Given the description of an element on the screen output the (x, y) to click on. 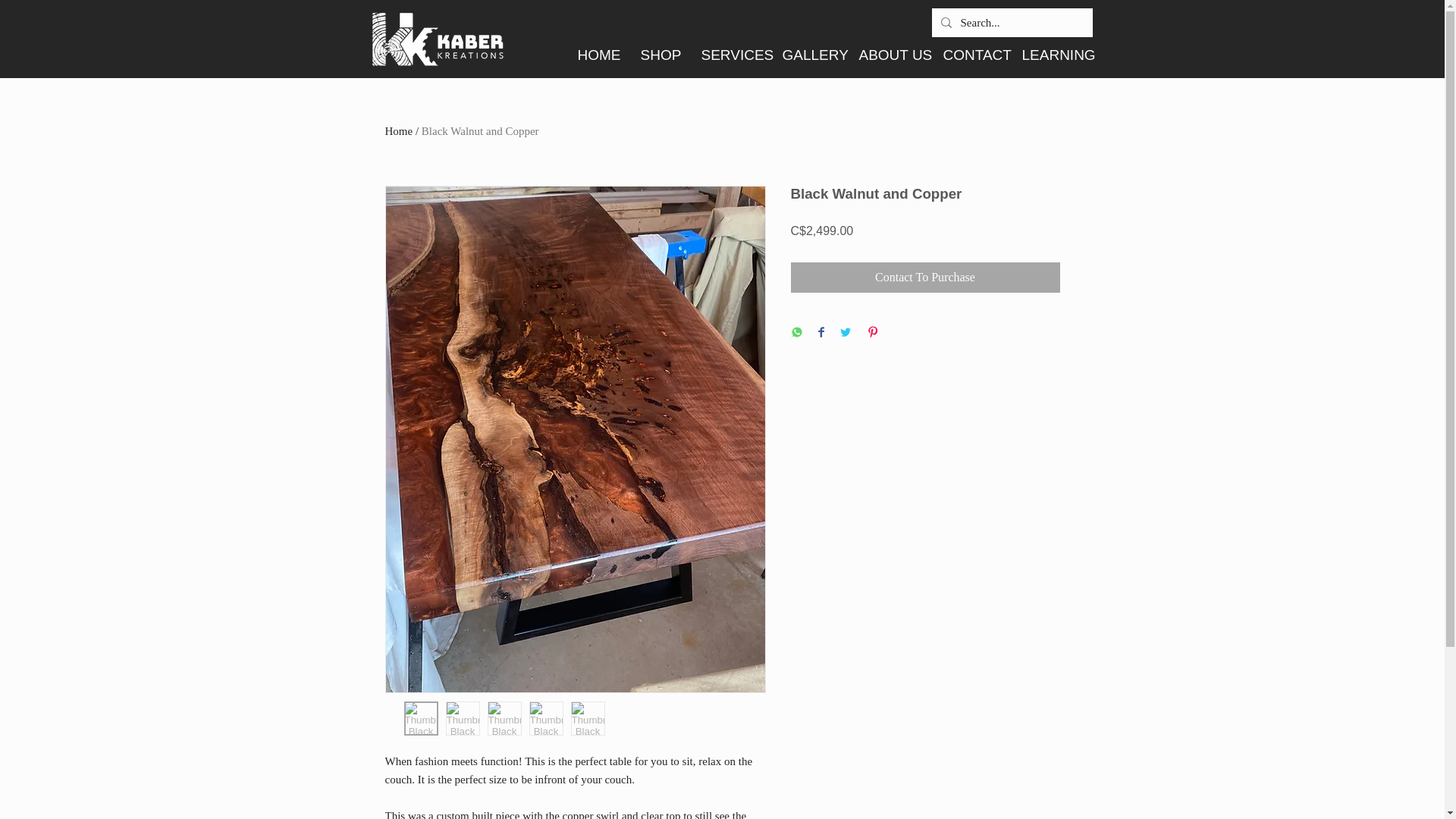
Home (399, 131)
Black Walnut and Copper (480, 131)
Contact To Purchase (924, 277)
GALLERY (808, 55)
SERVICES (730, 55)
LEARNING (1051, 55)
SHOP (659, 55)
CONTACT (970, 55)
ABOUT US (889, 55)
HOME (597, 55)
